Given the description of an element on the screen output the (x, y) to click on. 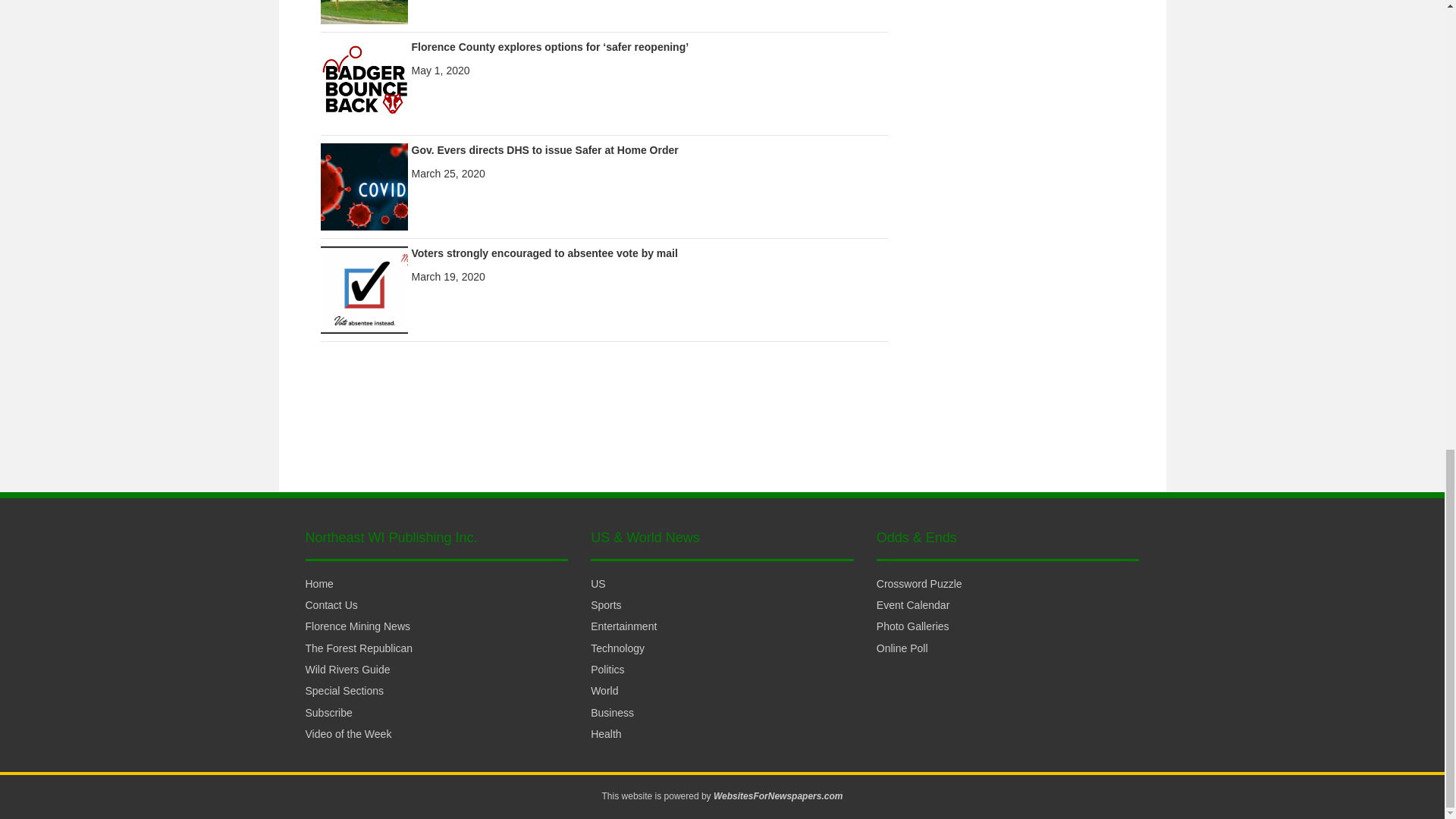
Gov. Evers directs DHS to issue Safer at Home Order (544, 150)
Voters strongly encouraged to absentee vote by mail (363, 288)
Voters strongly encouraged to absentee vote by mail (543, 253)
Gov. Evers directs DHS to issue Safer at Home Order (363, 185)
